Given the description of an element on the screen output the (x, y) to click on. 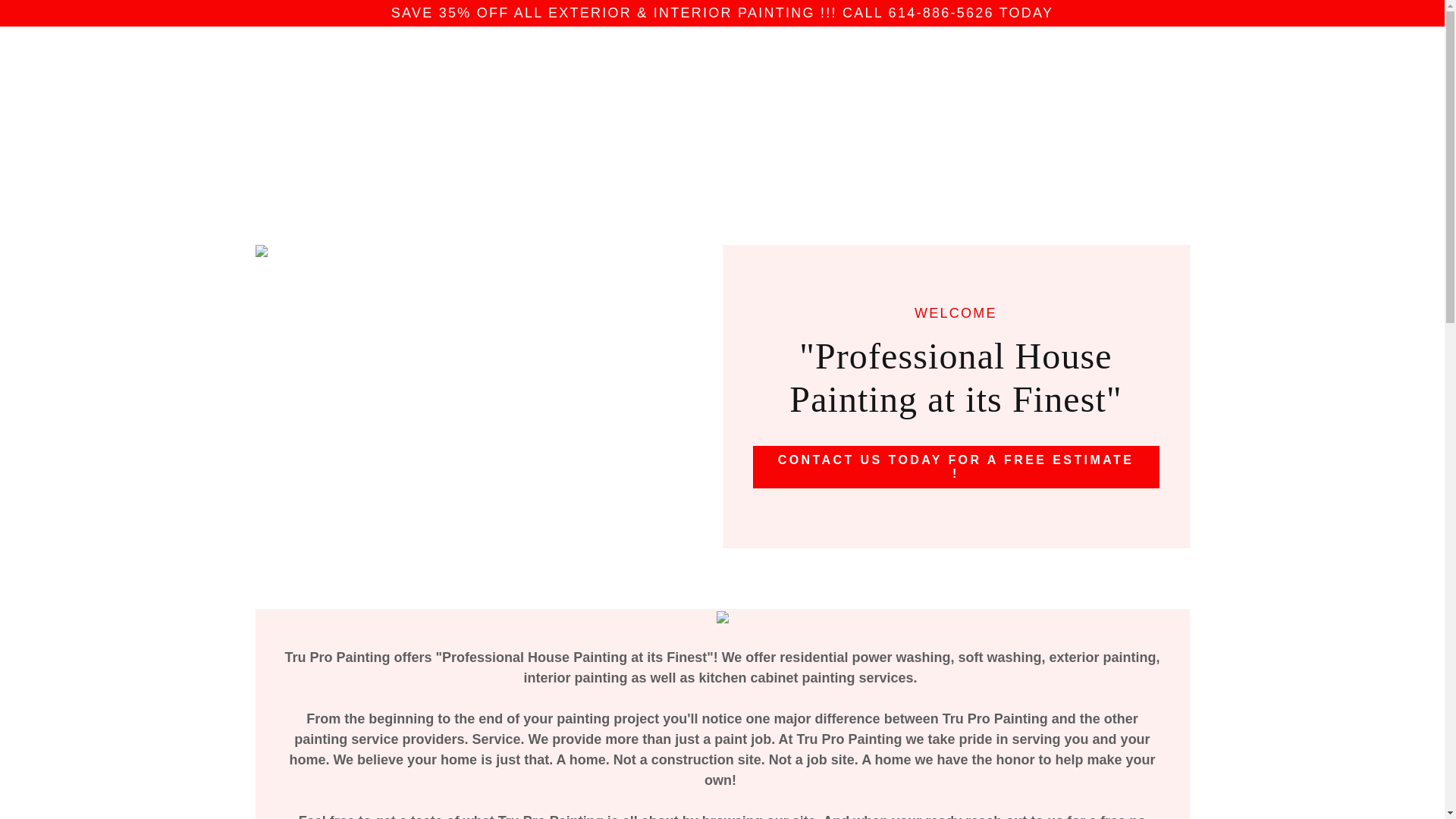
CONTACT US TODAY FOR A FREE ESTIMATE ! (955, 466)
